Given the description of an element on the screen output the (x, y) to click on. 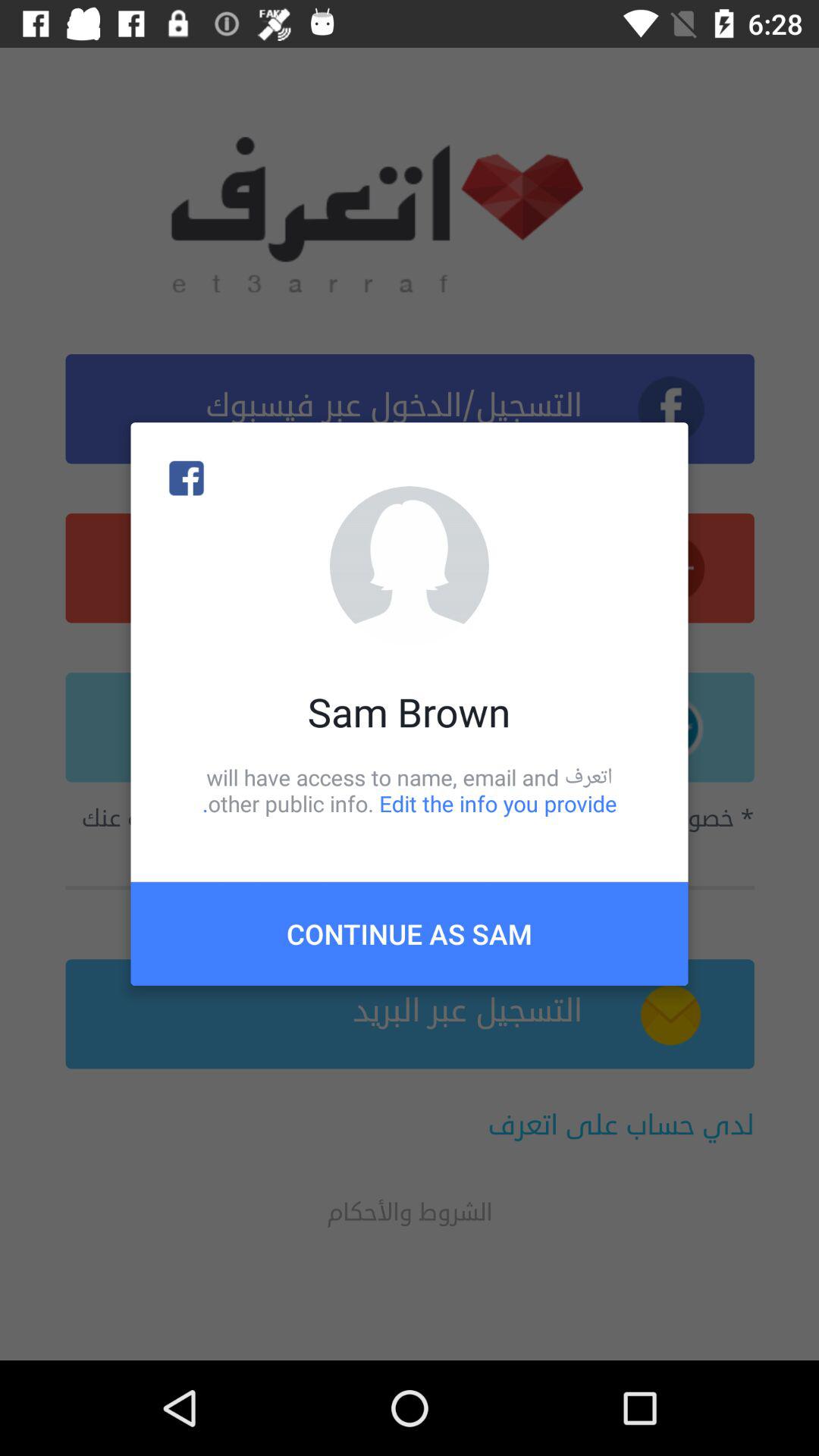
flip until the continue as sam item (409, 933)
